Given the description of an element on the screen output the (x, y) to click on. 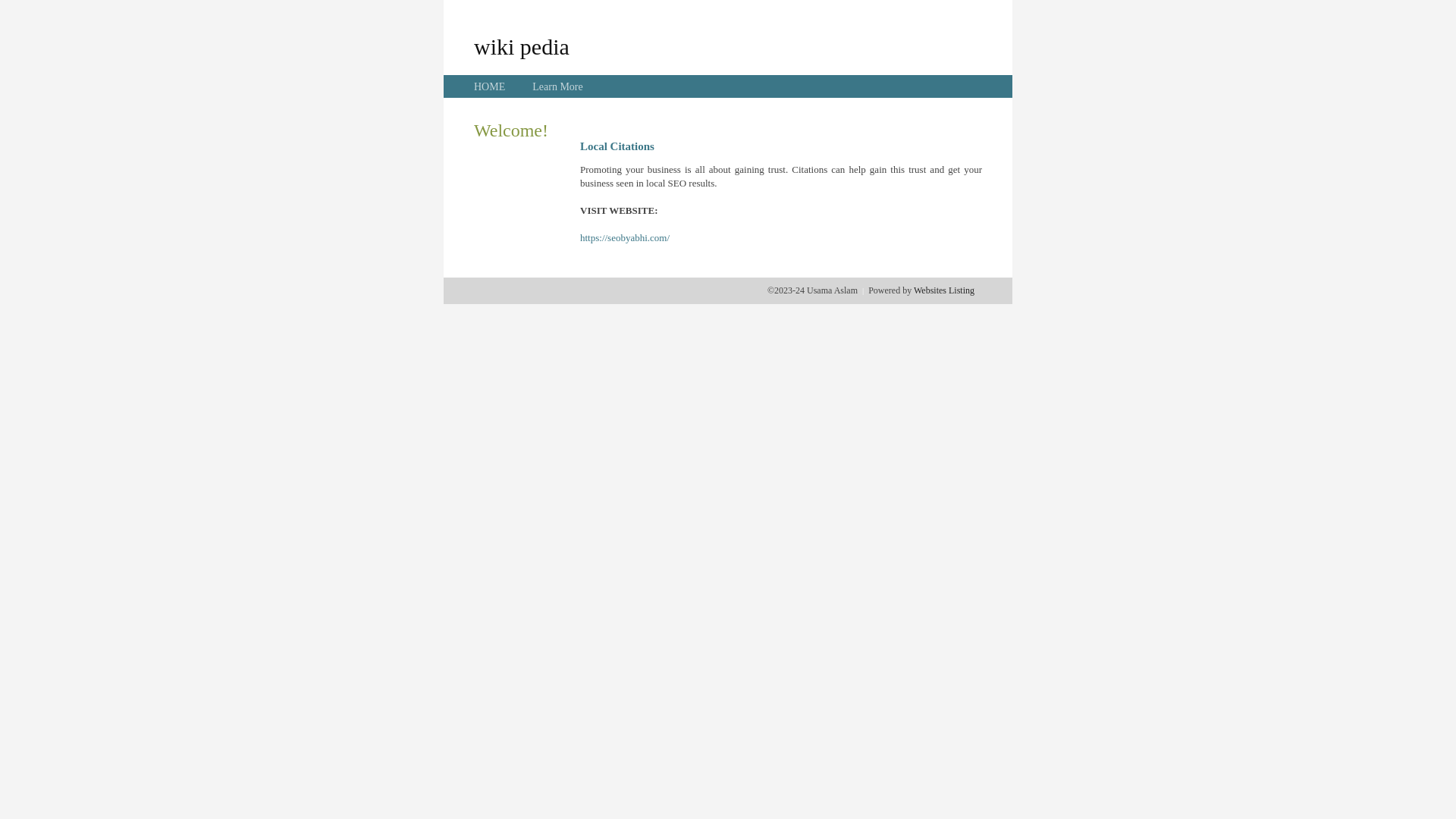
Websites Listing Element type: text (943, 290)
HOME Element type: text (489, 86)
https://seobyabhi.com/ Element type: text (624, 237)
Learn More Element type: text (557, 86)
wiki pedia Element type: text (521, 46)
